Given the description of an element on the screen output the (x, y) to click on. 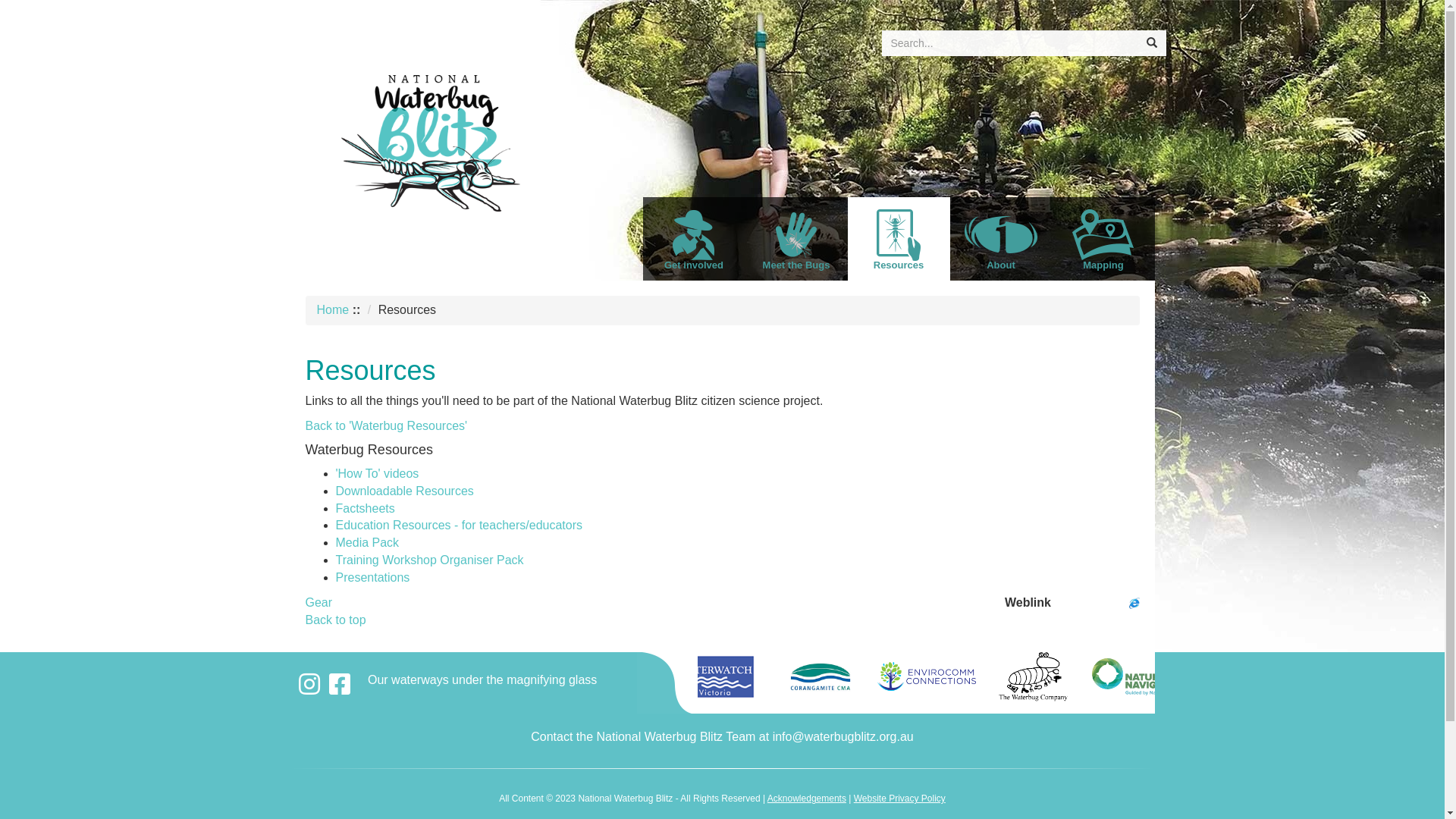
Home Element type: text (332, 309)
  Element type: text (348, 688)
Meet the Bugs Element type: text (795, 238)
info@waterbugblitz.org.au Element type: text (842, 736)
Back to 'Waterbug Resources' Element type: text (385, 425)
Downloadable Resources Element type: text (404, 490)
Presentations Element type: text (372, 577)
About Element type: text (1000, 238)
Back to top Element type: text (334, 619)
Get involved Element type: text (694, 238)
Training Workshop Organiser Pack Element type: text (429, 559)
Education Resources - for teachers/educators Element type: text (458, 524)
Media Pack Element type: text (366, 542)
Search Element type: text (1151, 43)
Resources Element type: text (898, 238)
Acknowledgements Element type: text (806, 798)
Mapping Element type: text (1103, 238)
  Element type: text (312, 688)
Website Privacy Policy Element type: text (899, 798)
'How To' videos Element type: text (376, 473)
Gear Element type: text (318, 602)
Factsheets Element type: text (364, 508)
